Given the description of an element on the screen output the (x, y) to click on. 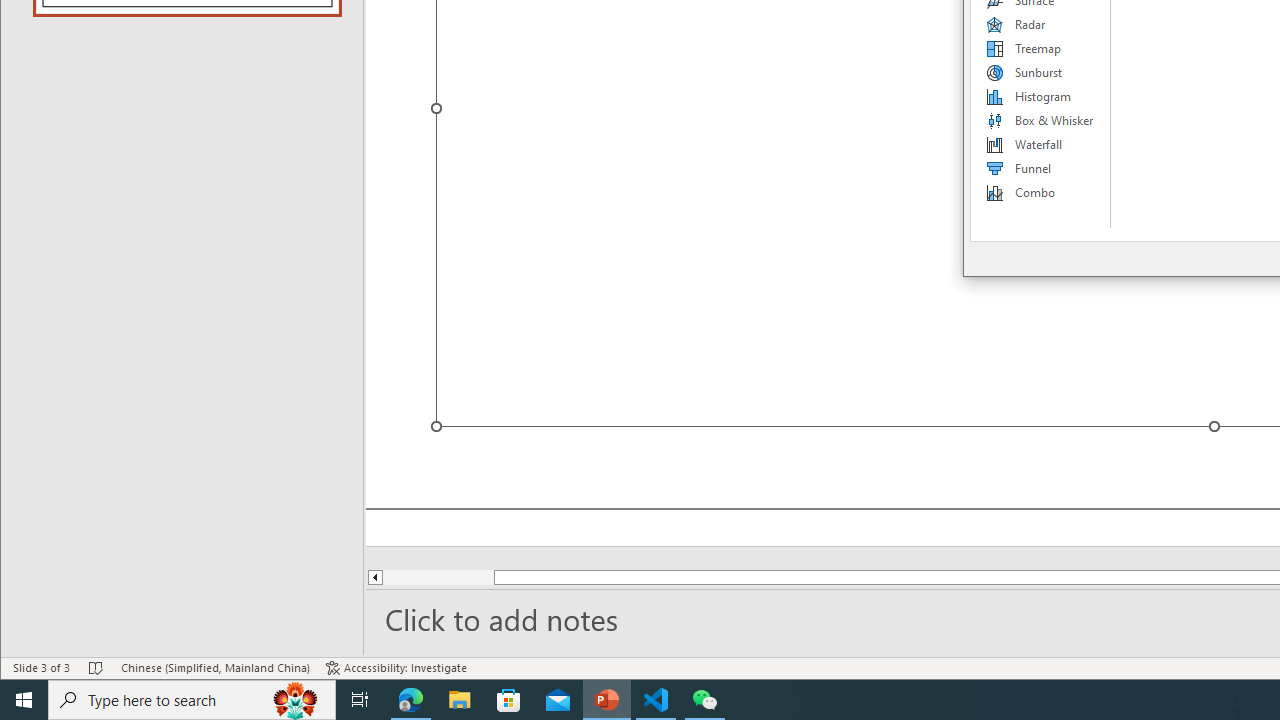
Treemap (1041, 48)
Sunburst (1041, 72)
Radar (1041, 24)
Funnel (1041, 168)
Histogram (1041, 96)
Combo (1041, 192)
Box & Whisker (1041, 120)
